Given the description of an element on the screen output the (x, y) to click on. 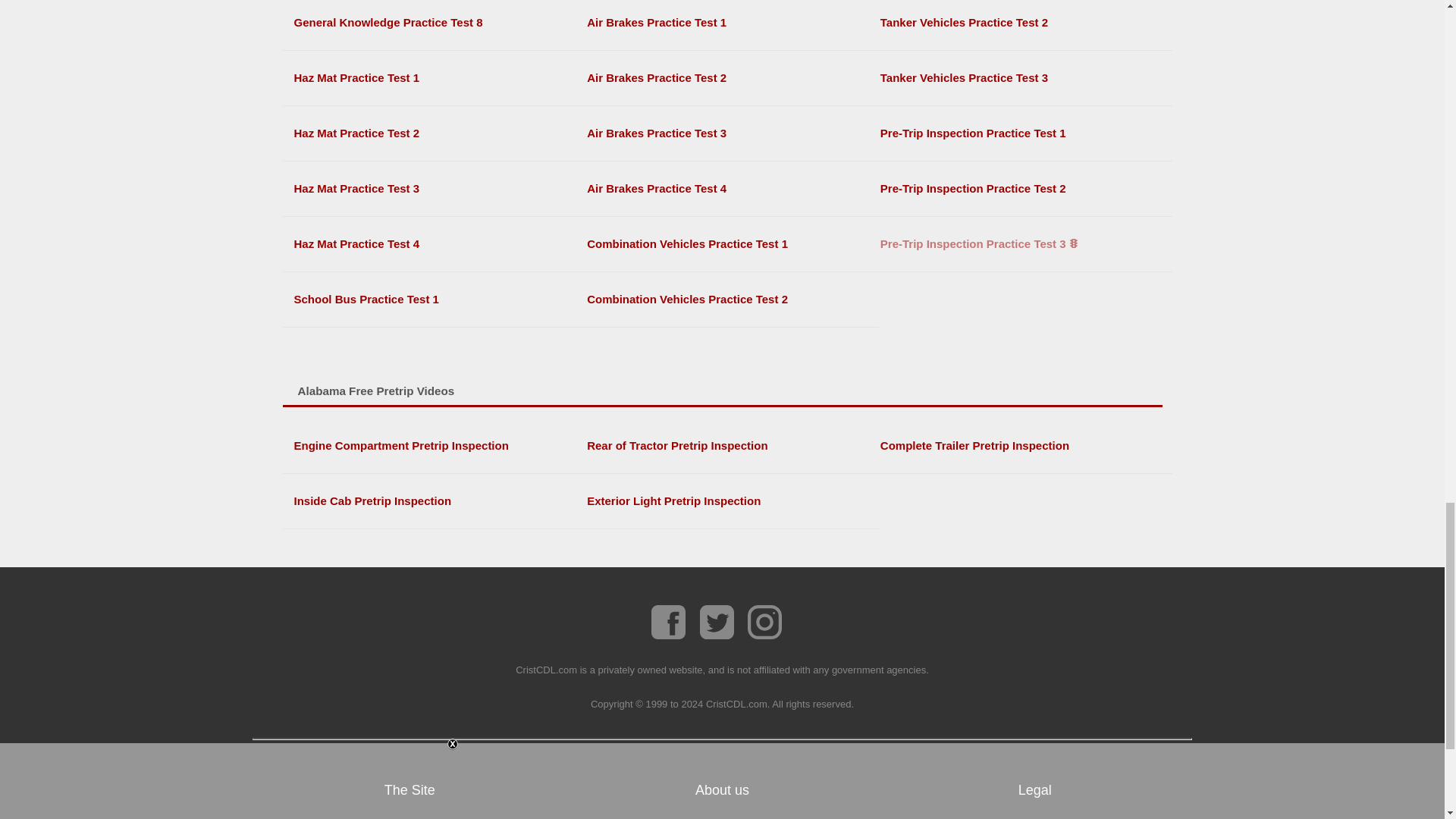
Air Brakes Practice Test 2 (727, 78)
Free AL School Bus CDL Practice Test 1 (433, 299)
Free AL Haz Mat CDL Practice Test 1 (433, 78)
General Knowledge Practice Test 8 (433, 22)
Combination Vehicles Practice Test 1 (727, 244)
Air Brakes Practice Test 4 (727, 188)
Free AL Haz Mat CDL Practice Test 2 (433, 133)
Combination Vehicles Practice Test 2 (727, 299)
Free AL Haz Mat CDL Practice Test 4 (433, 244)
Haz Mat Practice Test 1 (433, 78)
